Given the description of an element on the screen output the (x, y) to click on. 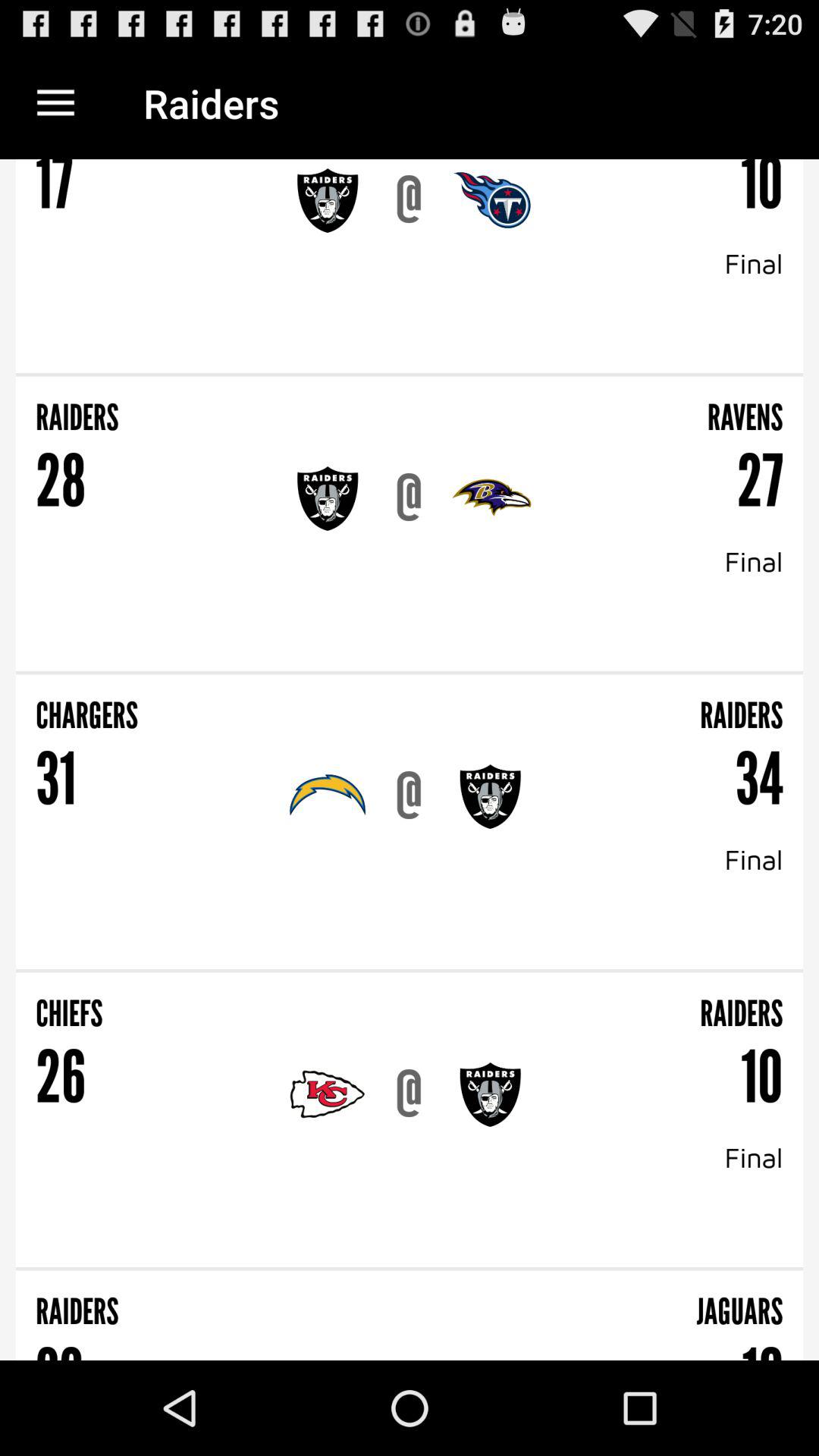
flip until the 31 item (55, 779)
